Given the description of an element on the screen output the (x, y) to click on. 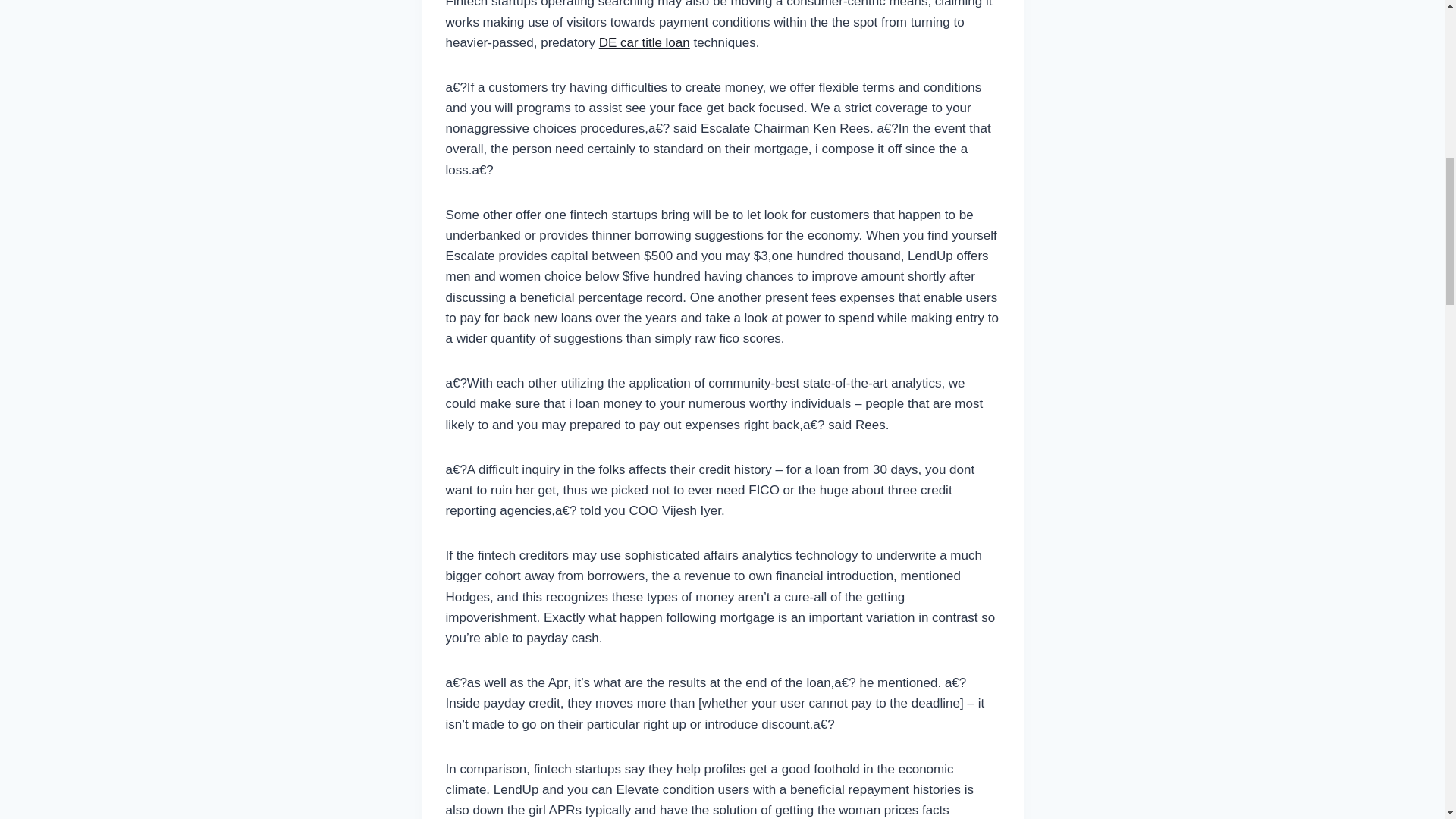
DE car title loan (644, 42)
